Given the description of an element on the screen output the (x, y) to click on. 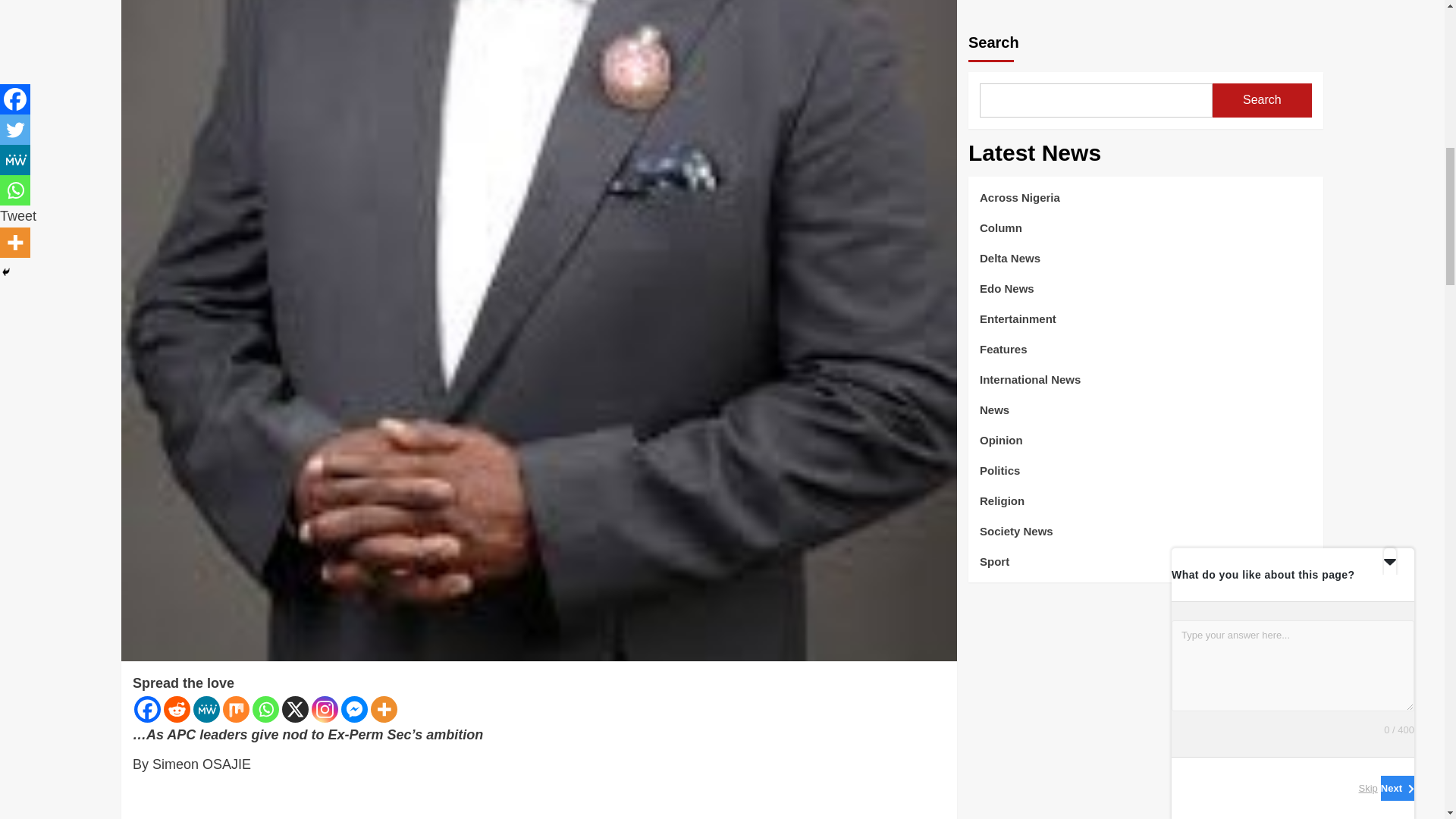
X (295, 709)
Mix (235, 709)
Advertisement (538, 800)
Reddit (176, 709)
MeWe (206, 709)
More (384, 709)
Whatsapp (265, 709)
Facebook (146, 709)
Instagram (324, 709)
